Given the description of an element on the screen output the (x, y) to click on. 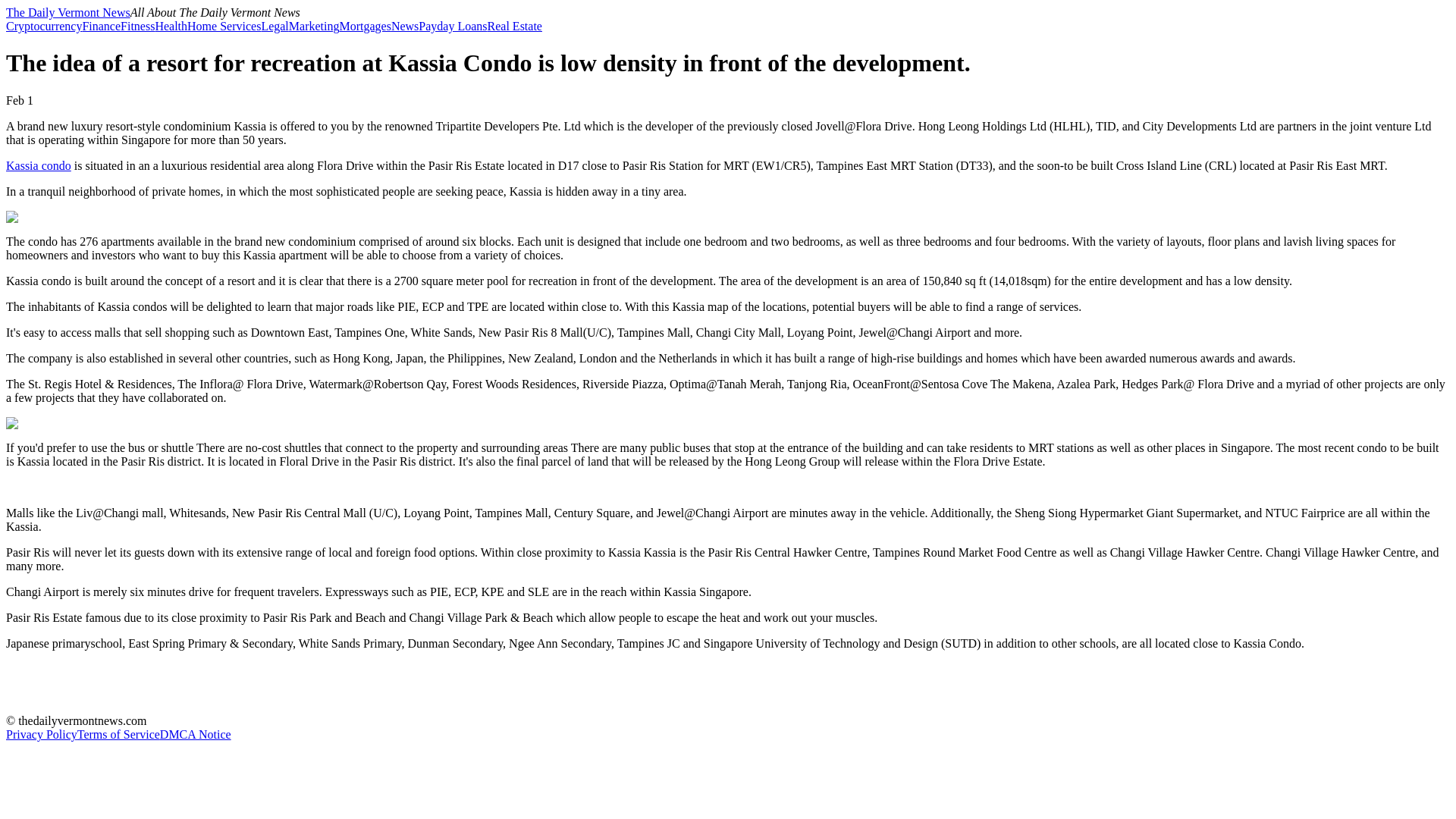
Cryptocurrency (43, 25)
Finance (100, 25)
Health (170, 25)
Fitness (137, 25)
Legal (274, 25)
Marketing (313, 25)
Home Services (223, 25)
Kassia condo (38, 164)
News (405, 25)
Payday Loans (452, 25)
Real Estate (514, 25)
Mortgages (364, 25)
The Daily Vermont News (68, 11)
